Given the description of an element on the screen output the (x, y) to click on. 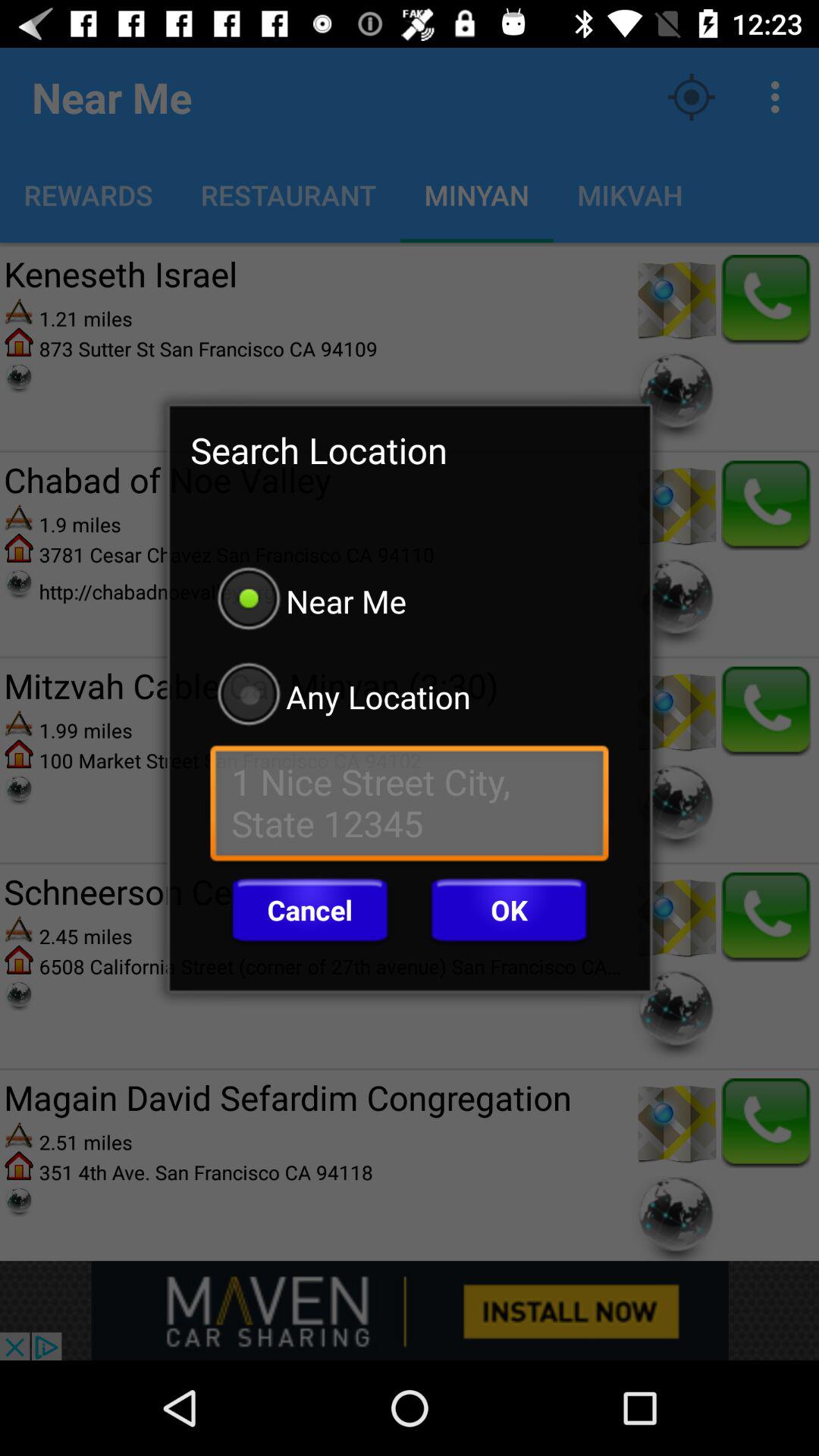
click the near me radio button (409, 600)
